Given the description of an element on the screen output the (x, y) to click on. 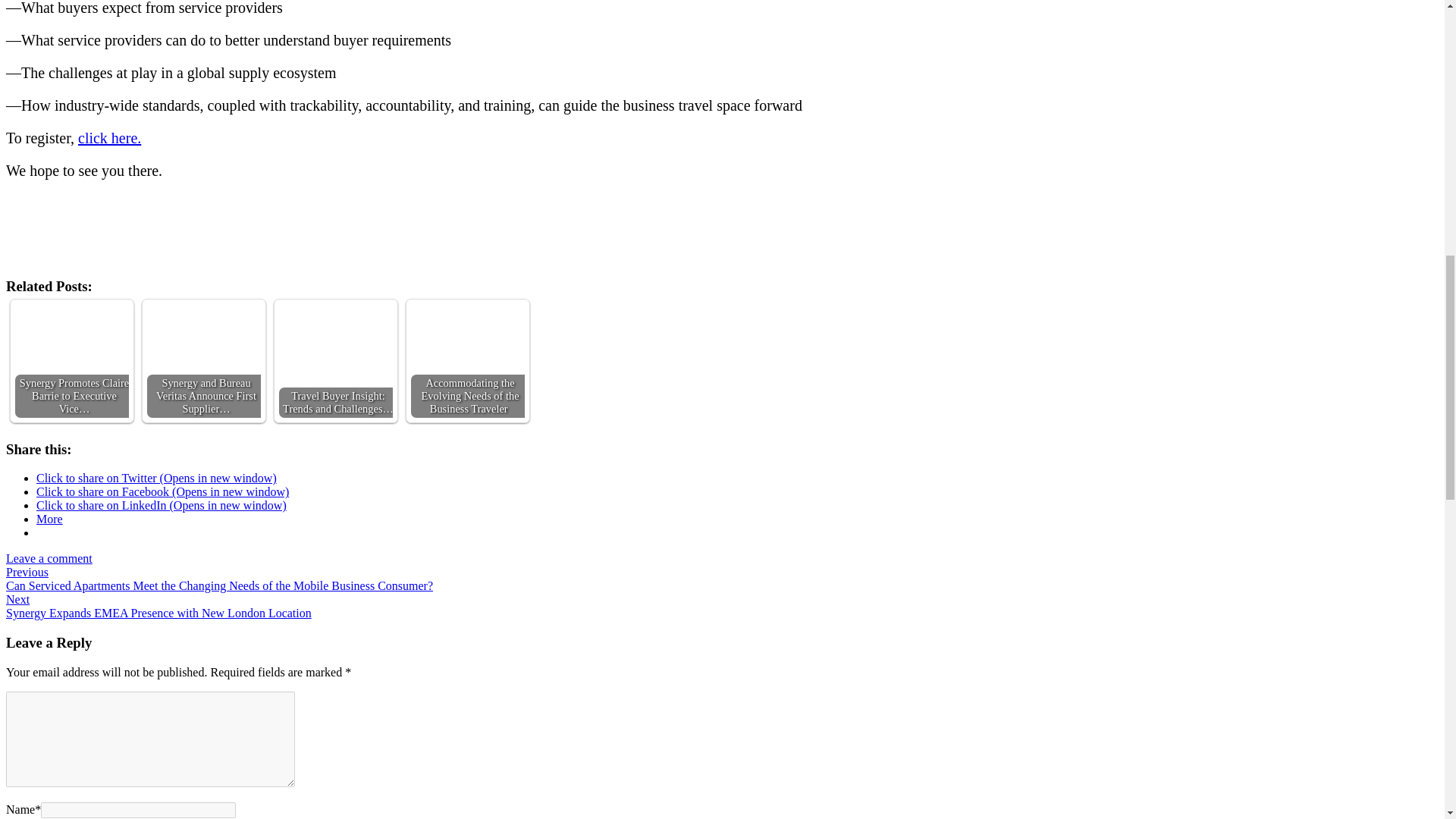
More (49, 518)
Click to share on LinkedIn (161, 504)
Click to share on Facebook (162, 491)
Click to share on Twitter (156, 477)
Accommodating the Evolving Needs of the Business Traveler  (467, 360)
click here. (109, 137)
